Given the description of an element on the screen output the (x, y) to click on. 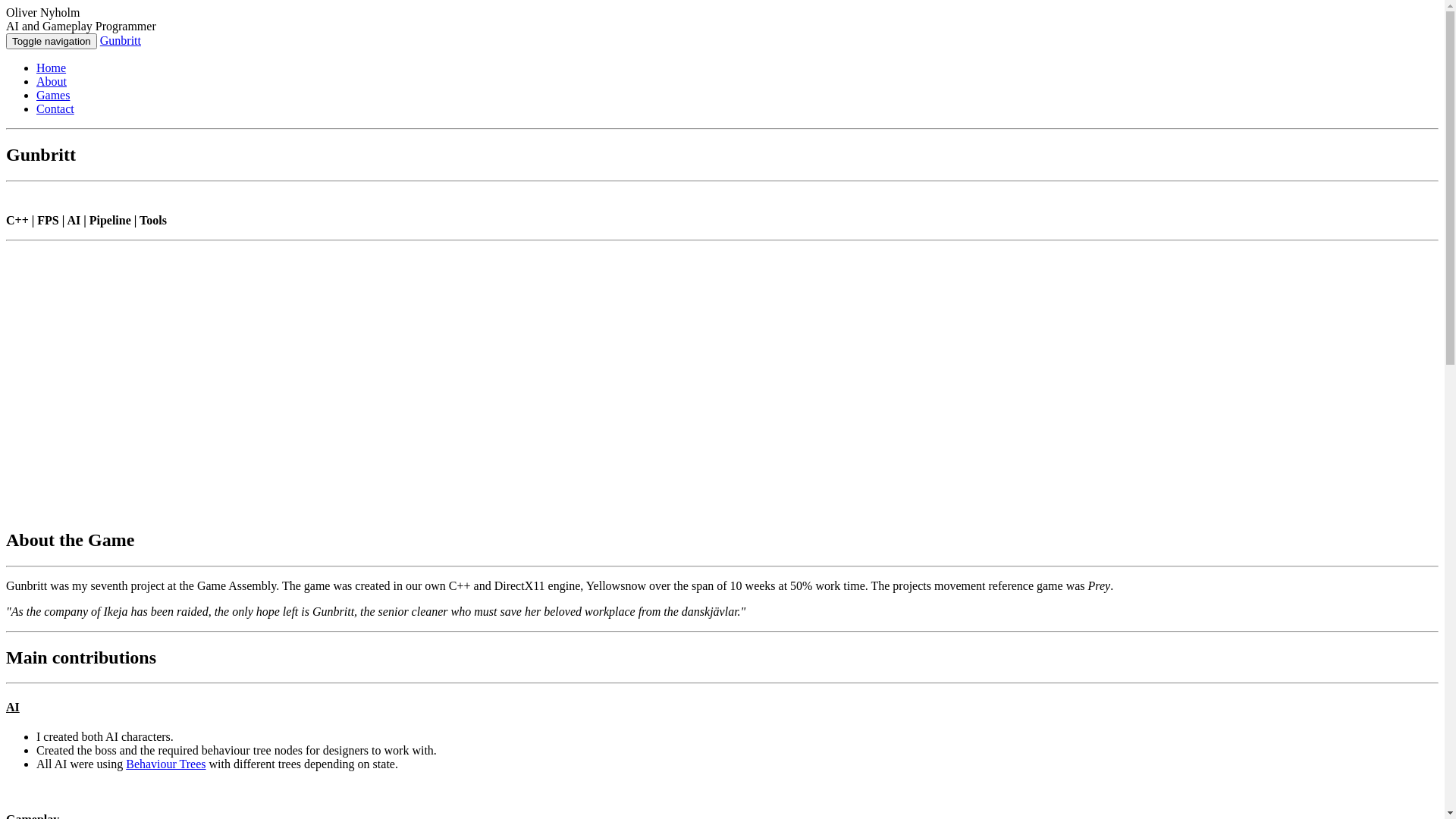
Behaviour Trees Element type: text (165, 763)
Games Element type: text (52, 94)
Toggle navigation Element type: text (51, 41)
Home Element type: text (50, 67)
Gunbritt Element type: text (120, 40)
About Element type: text (51, 81)
Contact Element type: text (55, 108)
